Given the description of an element on the screen output the (x, y) to click on. 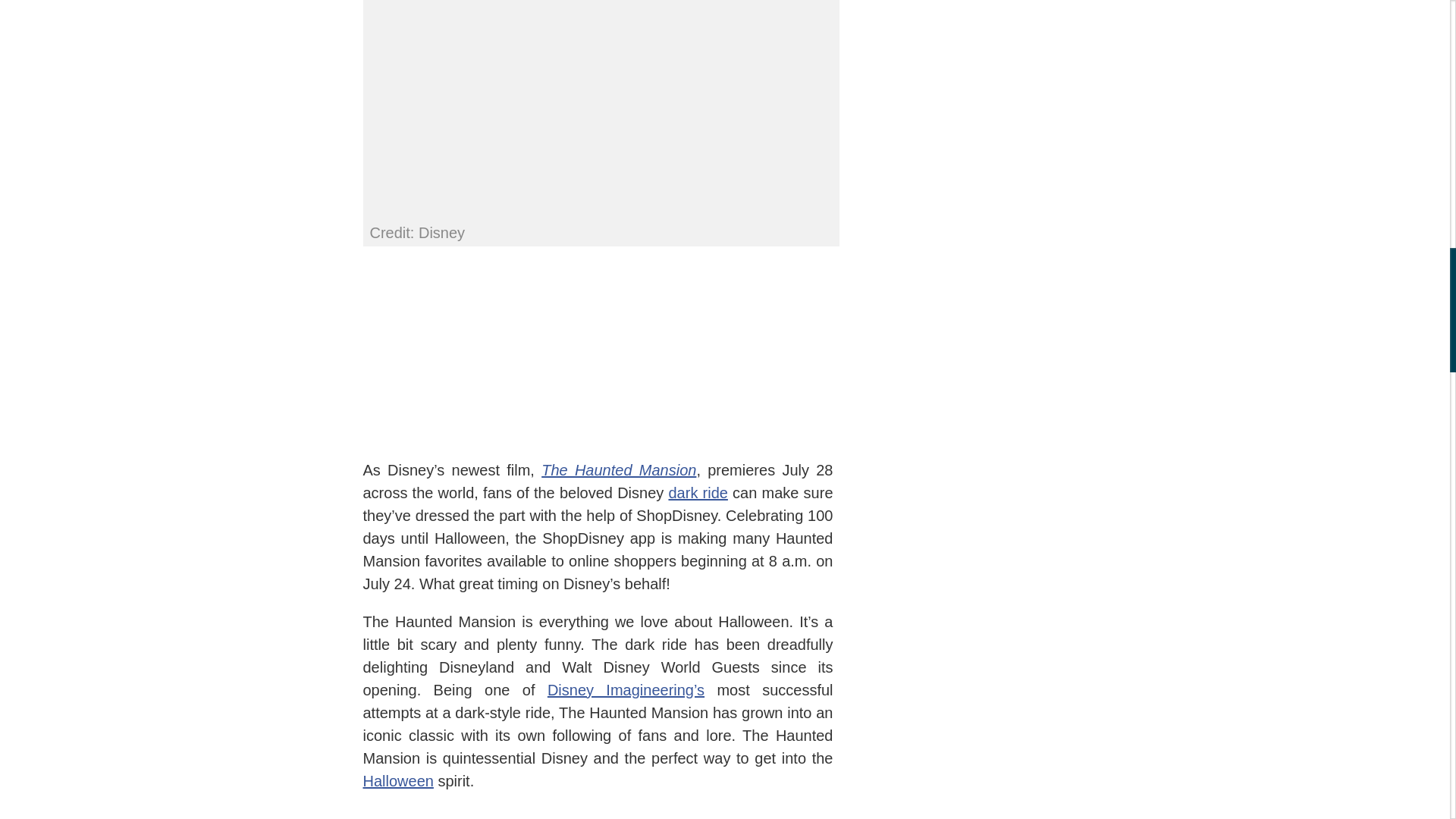
Halloween (397, 780)
dark ride (697, 492)
The Haunted Mansion (618, 469)
